Given the description of an element on the screen output the (x, y) to click on. 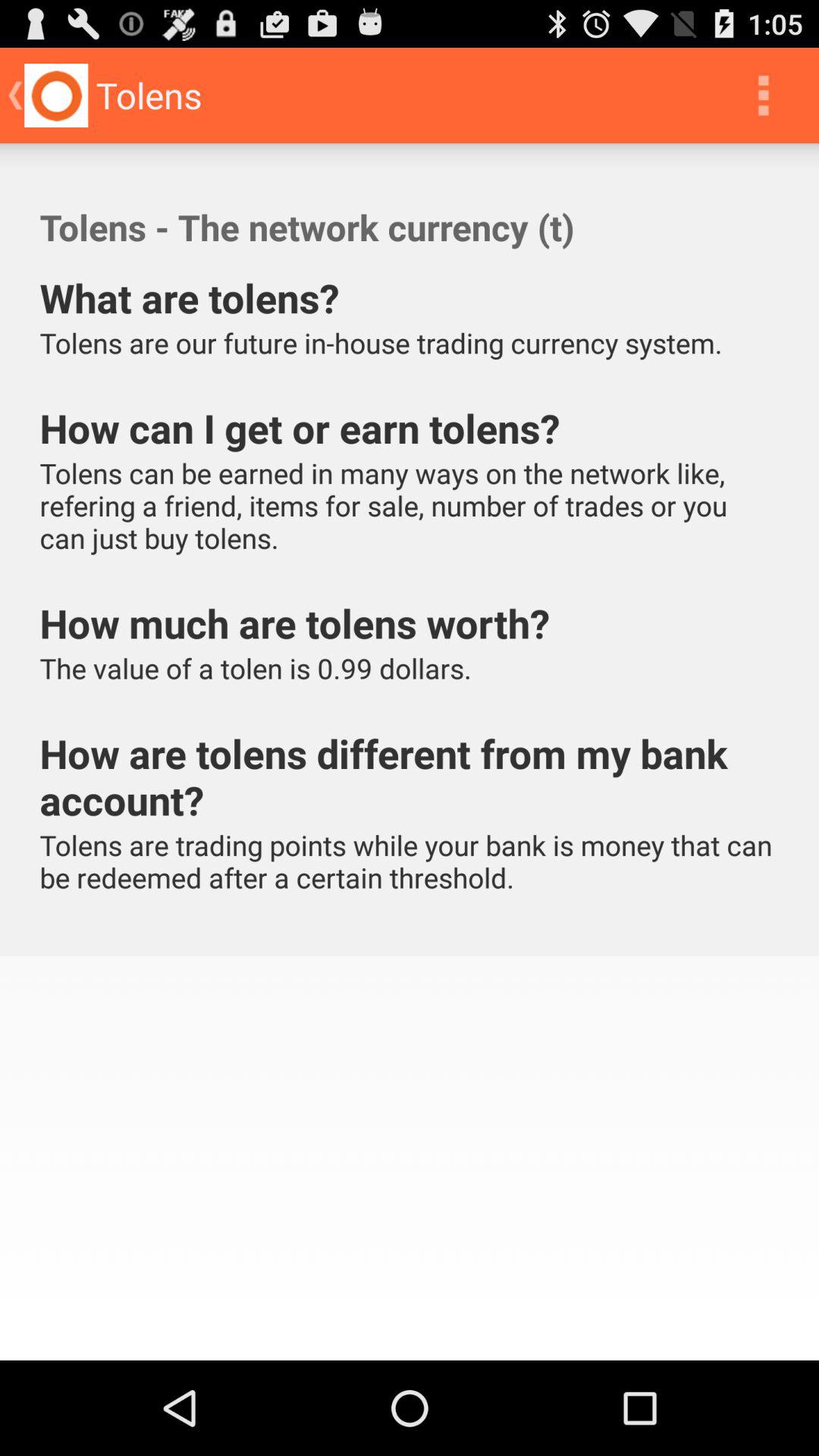
click icon to the right of tolens (763, 95)
